Given the description of an element on the screen output the (x, y) to click on. 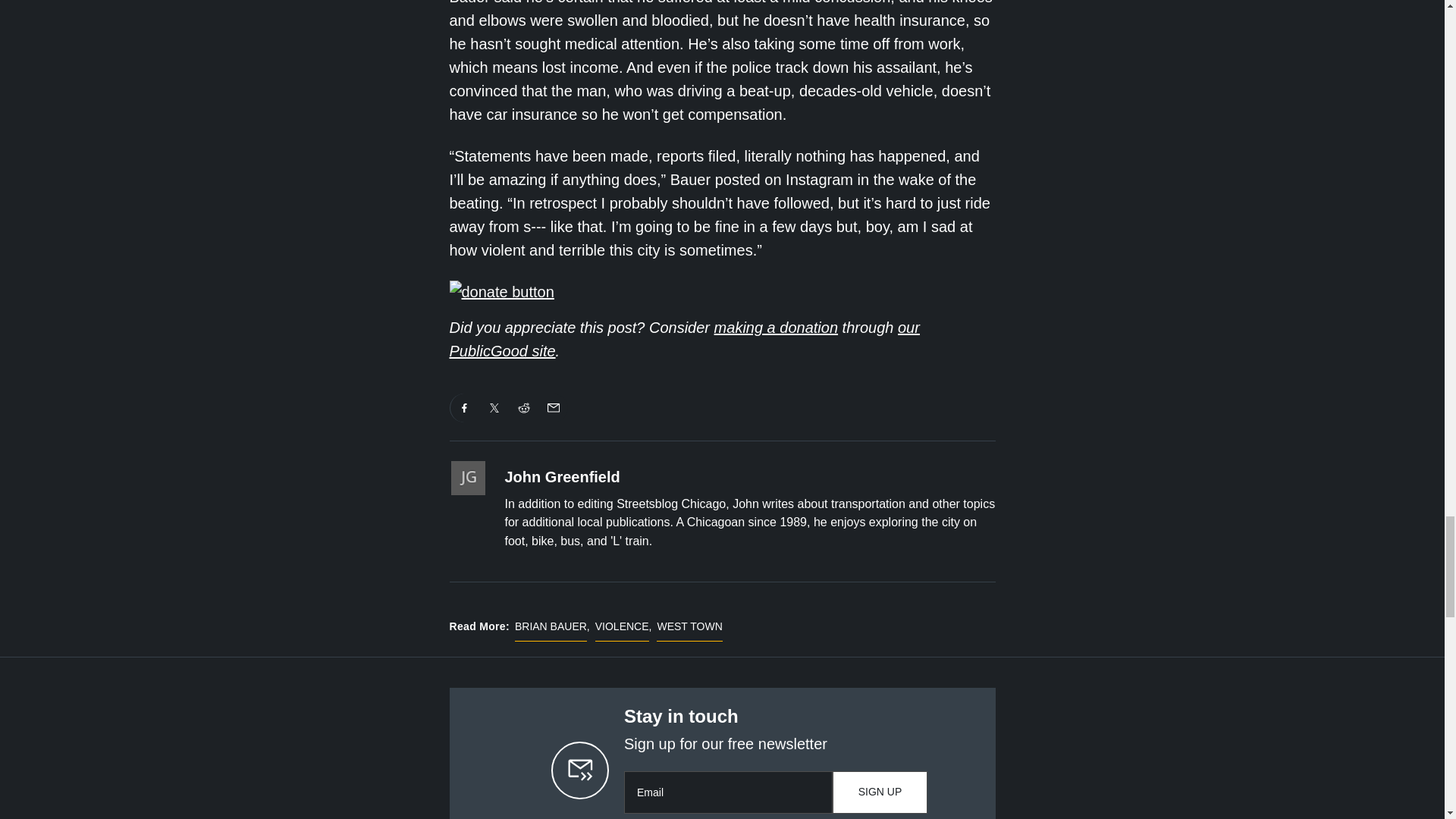
making a donation (776, 327)
Share on Email (552, 407)
our PublicGood site (683, 339)
Share on Facebook (464, 407)
Share on Reddit (523, 407)
